Given the description of an element on the screen output the (x, y) to click on. 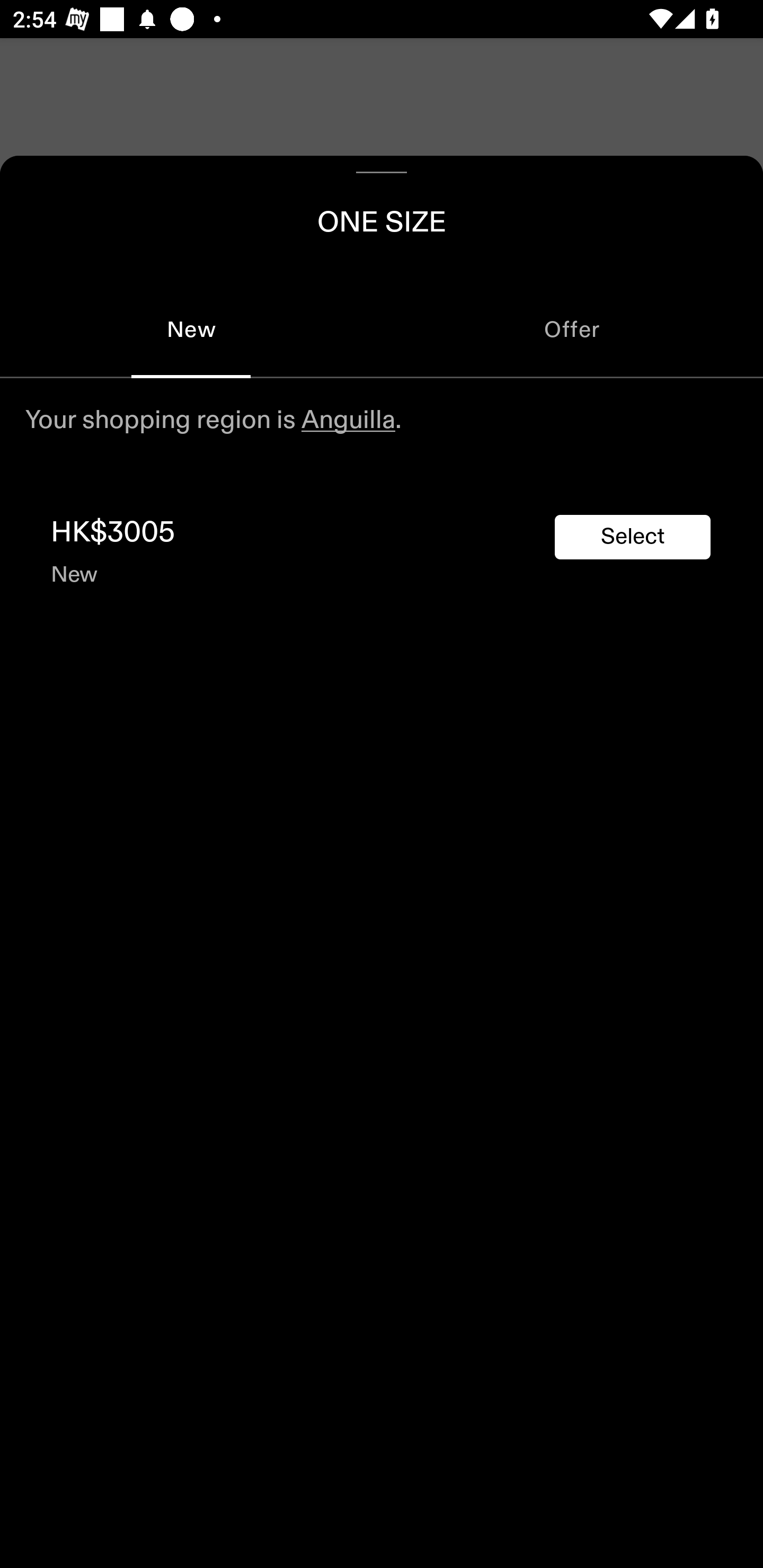
ONE SIZE (381, 218)
Offer (572, 329)
Select (632, 536)
